Given the description of an element on the screen output the (x, y) to click on. 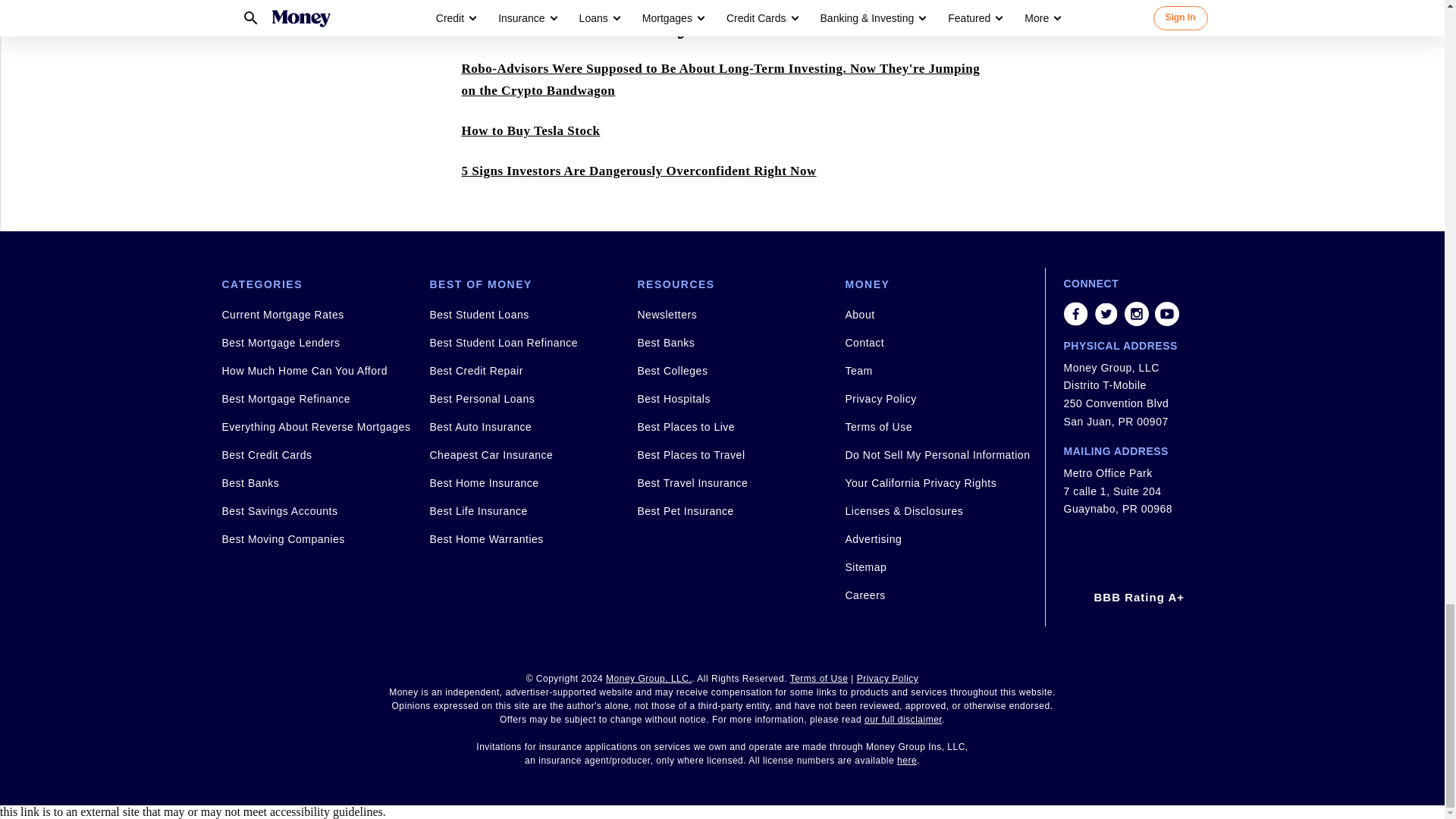
twitter share (1105, 313)
instagram share (1136, 313)
facebook share (1074, 313)
youtube share (1165, 313)
